Given the description of an element on the screen output the (x, y) to click on. 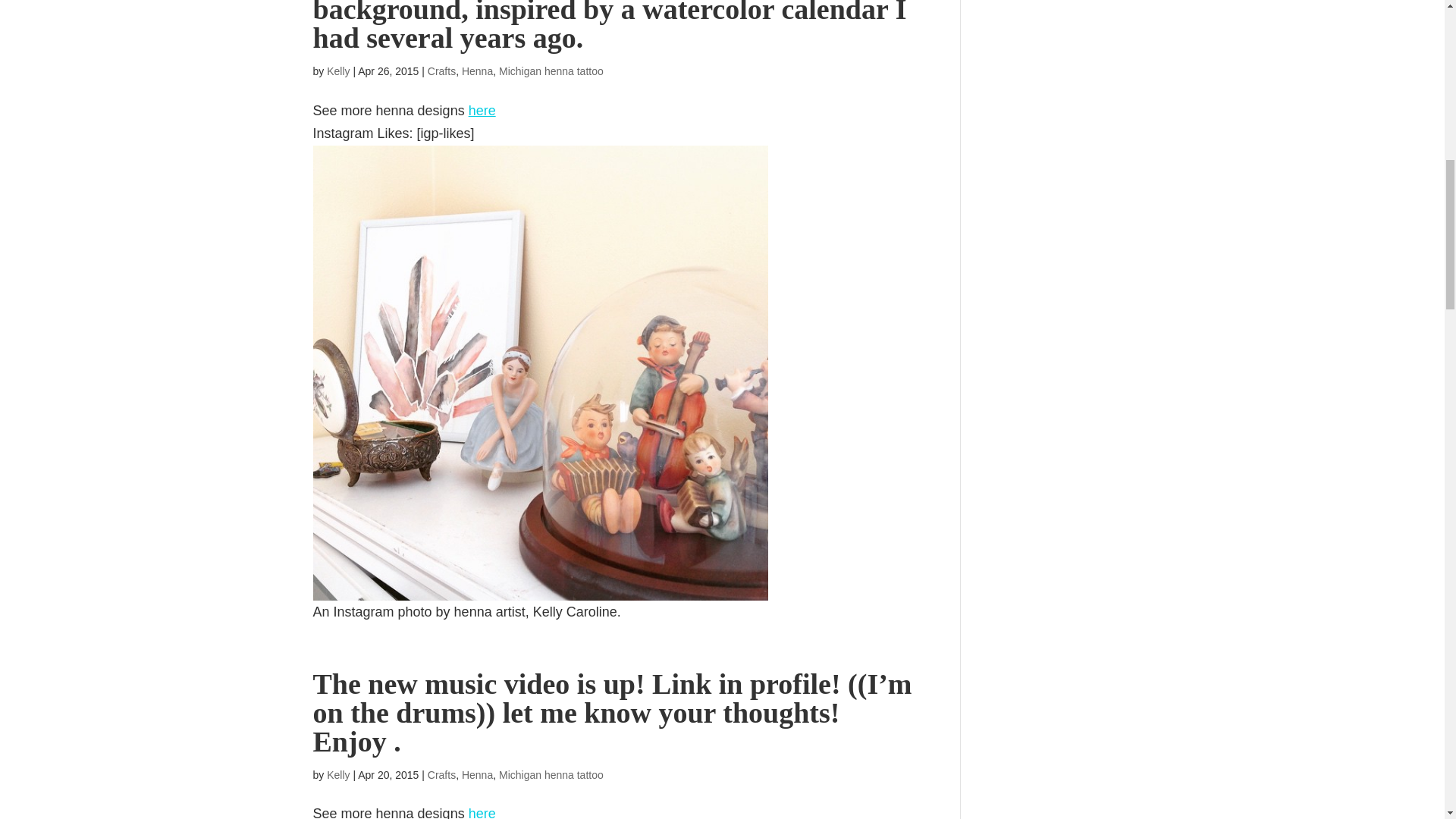
Posts by Kelly (337, 775)
Kelly (337, 70)
Posts by Kelly (337, 70)
